Given the description of an element on the screen output the (x, y) to click on. 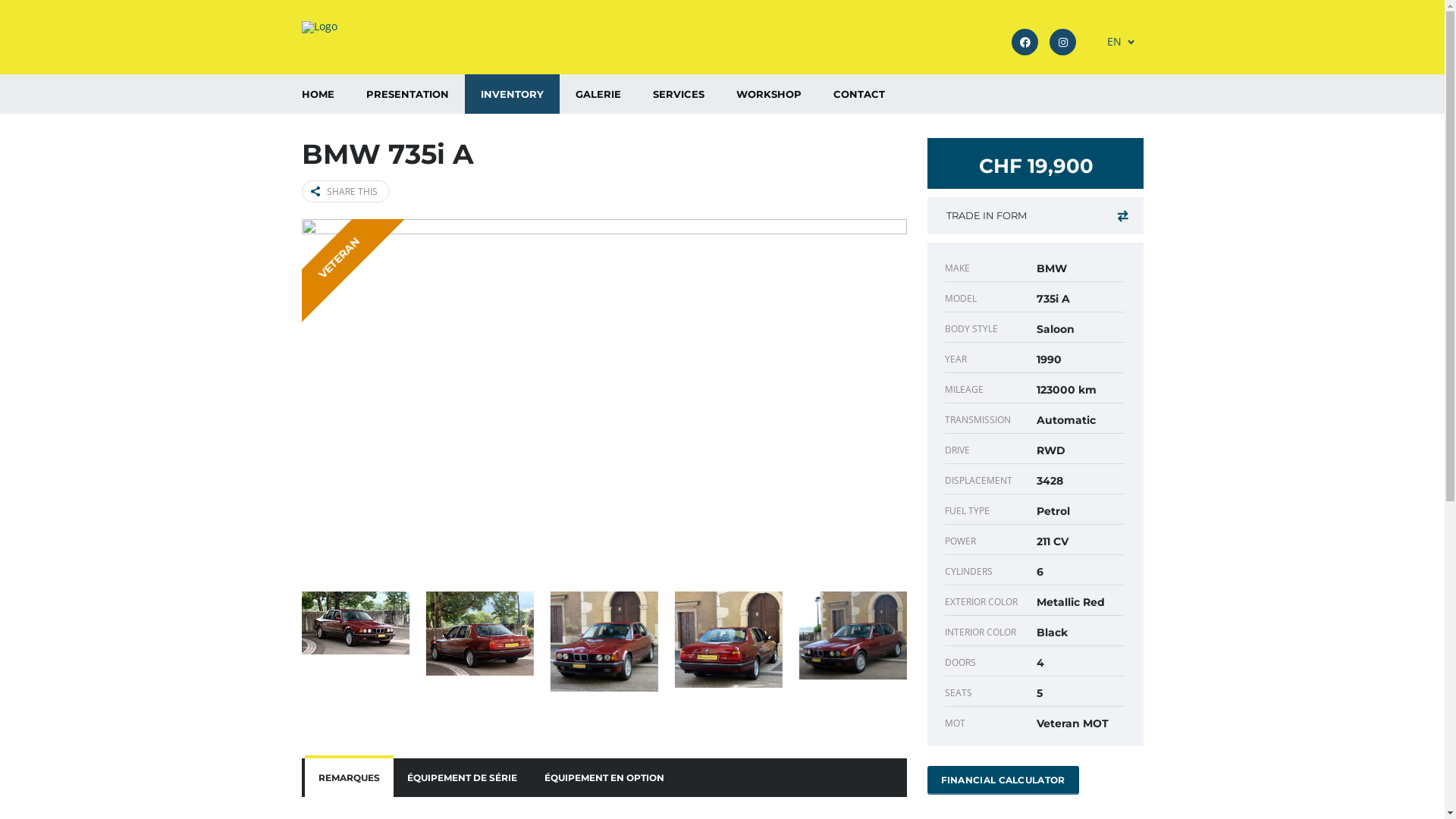
Home Element type: hover (319, 27)
CONTACT Element type: text (858, 93)
EN Element type: text (1114, 41)
GALERIE Element type: text (598, 93)
INVENTORY Element type: text (511, 93)
HOME Element type: text (317, 93)
SHARE THIS Element type: text (345, 191)
FINANCIAL CALCULATOR Element type: text (1002, 779)
PRESENTATION Element type: text (407, 93)
SERVICES Element type: text (678, 93)
WORKSHOP Element type: text (768, 93)
REMARQUES Element type: text (348, 777)
TRADE IN FORM Element type: text (1034, 215)
